Given the description of an element on the screen output the (x, y) to click on. 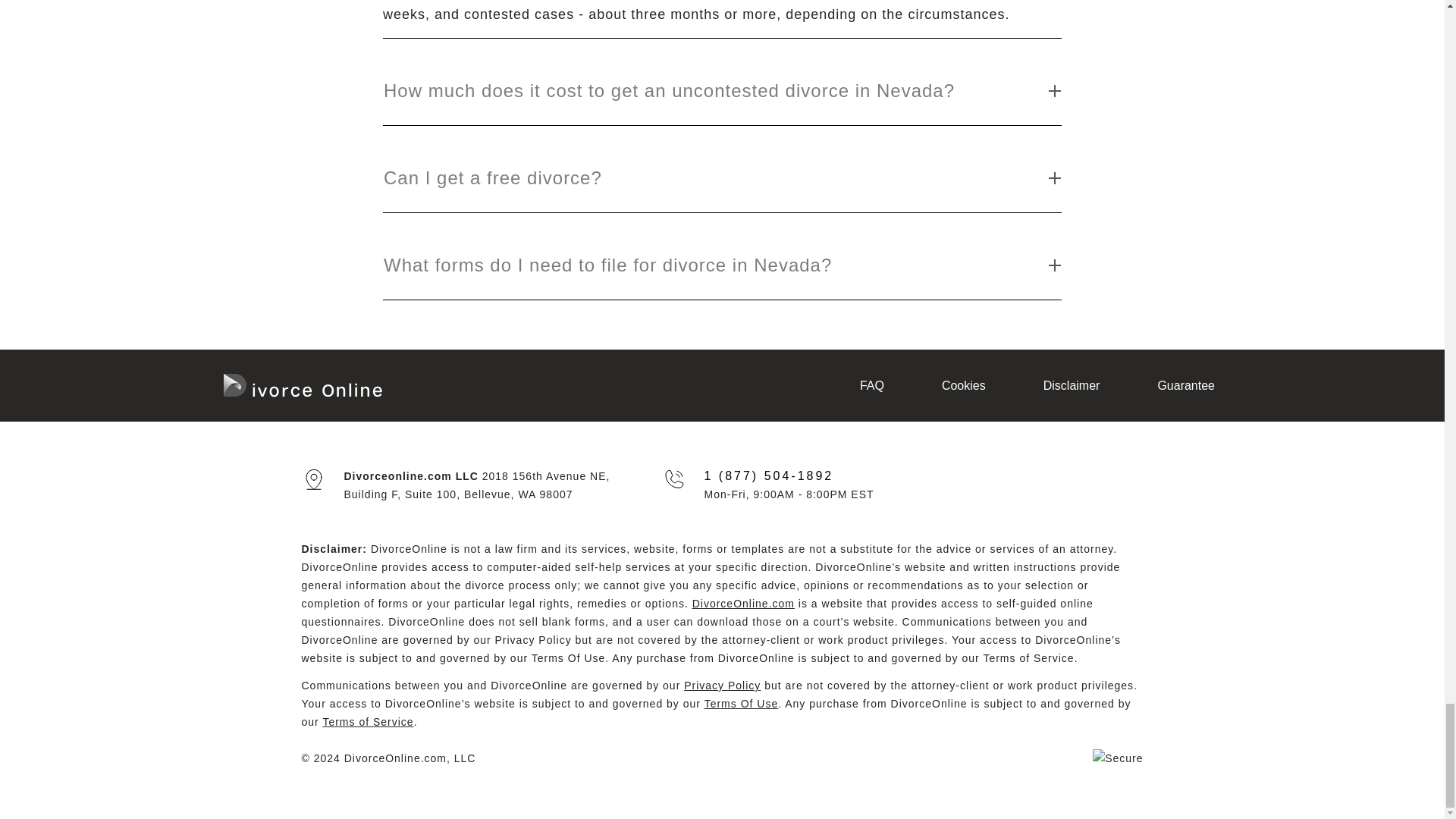
Can I get a free divorce? (721, 166)
FAQ (871, 384)
What forms do I need to file for divorce in Nevada? (721, 252)
